Given the description of an element on the screen output the (x, y) to click on. 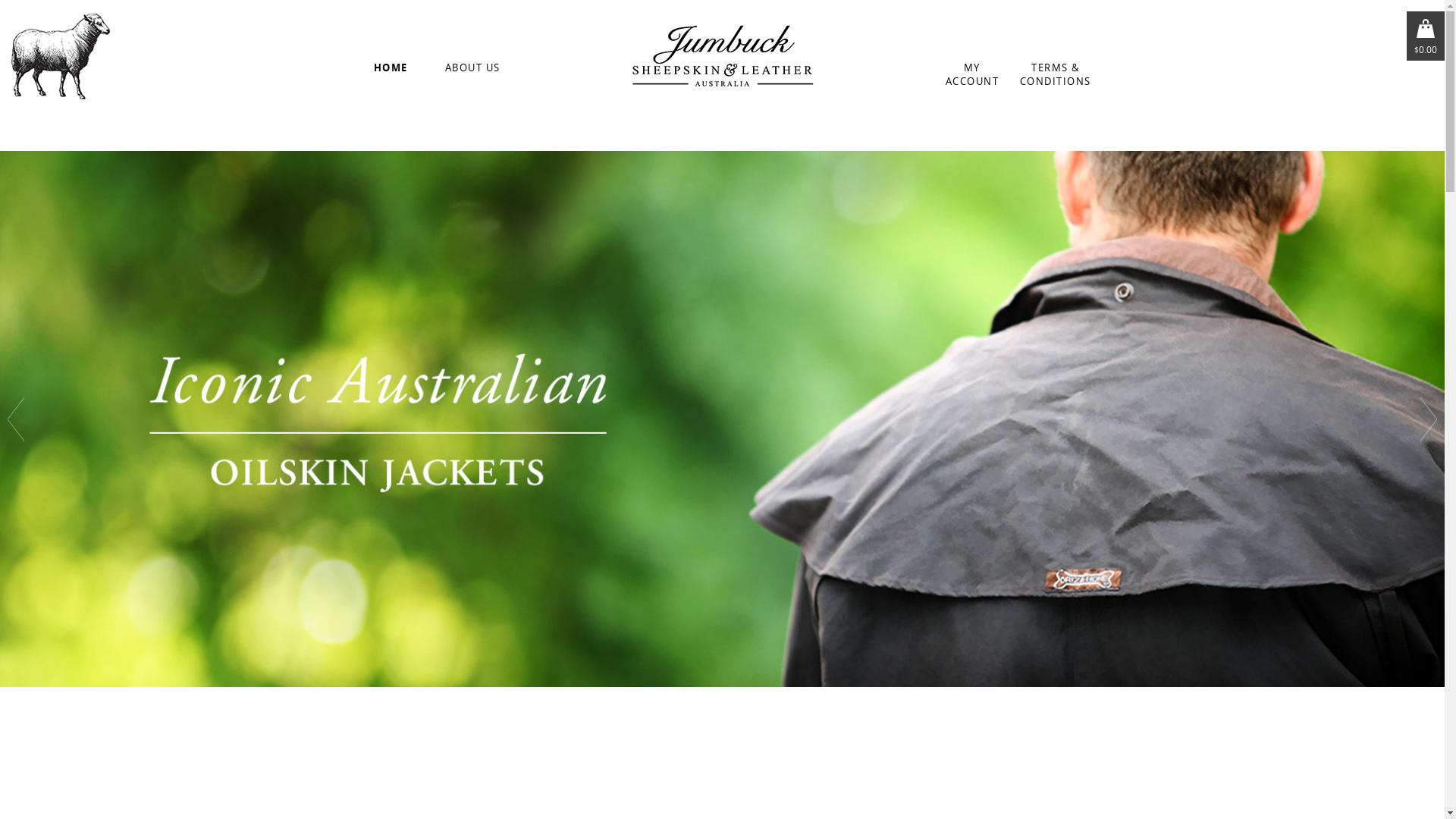
Next Element type: text (1428, 418)
ABOUT US Element type: text (472, 67)
MY ACCOUNT Element type: text (972, 73)
TERMS & CONDITIONS Element type: text (1055, 73)
HOME Element type: text (390, 67)
Jumbuck Sheepskin Element type: hover (722, 54)
Prev Element type: text (15, 418)
